Given the description of an element on the screen output the (x, y) to click on. 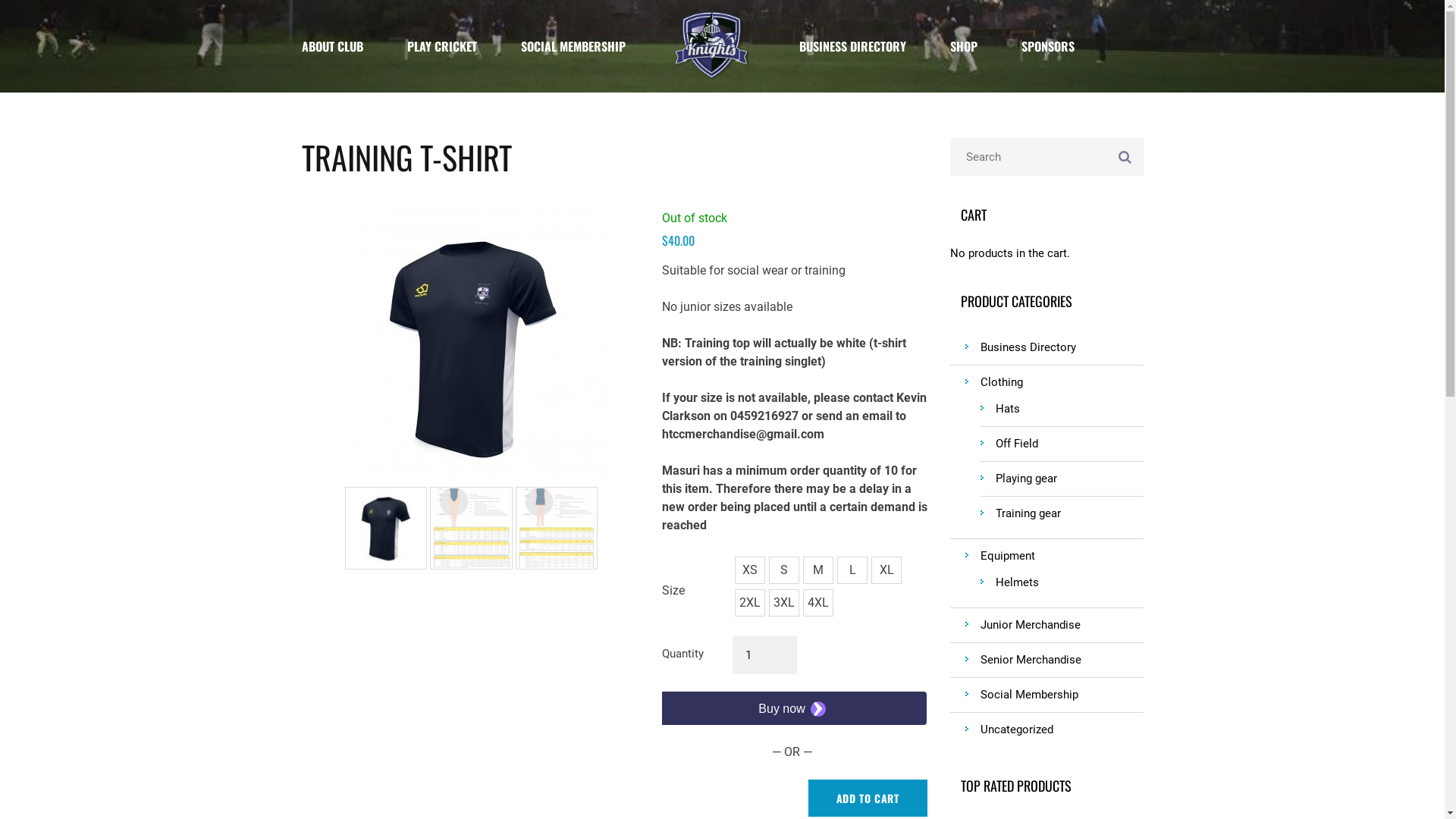
Training gear Element type: text (1068, 513)
Uncategorized Element type: text (1060, 729)
Junior Merchandise Element type: text (1060, 624)
PLAY CRICKET Element type: text (441, 45)
Playing gear Element type: text (1068, 478)
Helmets Element type: text (1068, 582)
Secure payment button frame Element type: hover (791, 707)
Senior Merchandise Element type: text (1060, 659)
ADD TO CART Element type: text (867, 797)
Hats Element type: text (1068, 408)
Clothing Element type: text (1060, 382)
SPONSORS Element type: text (1047, 45)
Submit Element type: text (809, 767)
ABOUT CLUB Element type: text (343, 45)
Equipment Element type: text (1060, 555)
Off Field Element type: text (1068, 443)
SOCIAL MEMBERSHIP Element type: text (572, 45)
Business Directory Element type: text (1060, 347)
BUSINESS DIRECTORY Element type: text (851, 45)
Social Membership Element type: text (1060, 694)
Qty Element type: hover (764, 655)
SHOP Element type: text (963, 45)
